Given the description of an element on the screen output the (x, y) to click on. 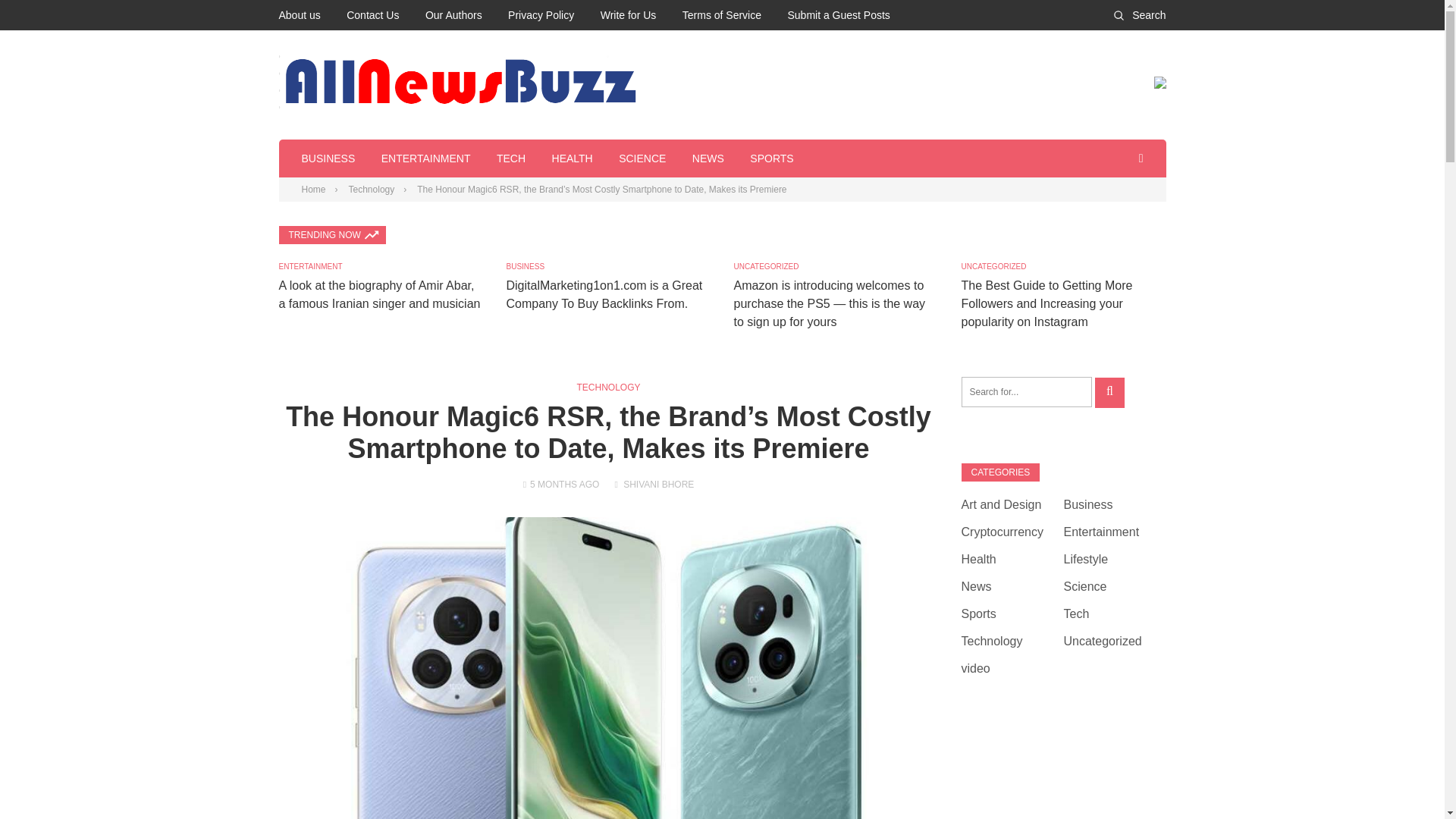
Search (1139, 15)
5 MONTHS (552, 484)
BUSINESS (525, 266)
Write for Us (627, 15)
UNCATEGORIZED (766, 266)
TECHNOLOGY (608, 387)
UNCATEGORIZED (993, 266)
SPORTS (771, 158)
Terms of Service (721, 15)
Our Authors (453, 15)
Submit a Guest Posts (838, 15)
Home (313, 189)
Technology (371, 189)
